Given the description of an element on the screen output the (x, y) to click on. 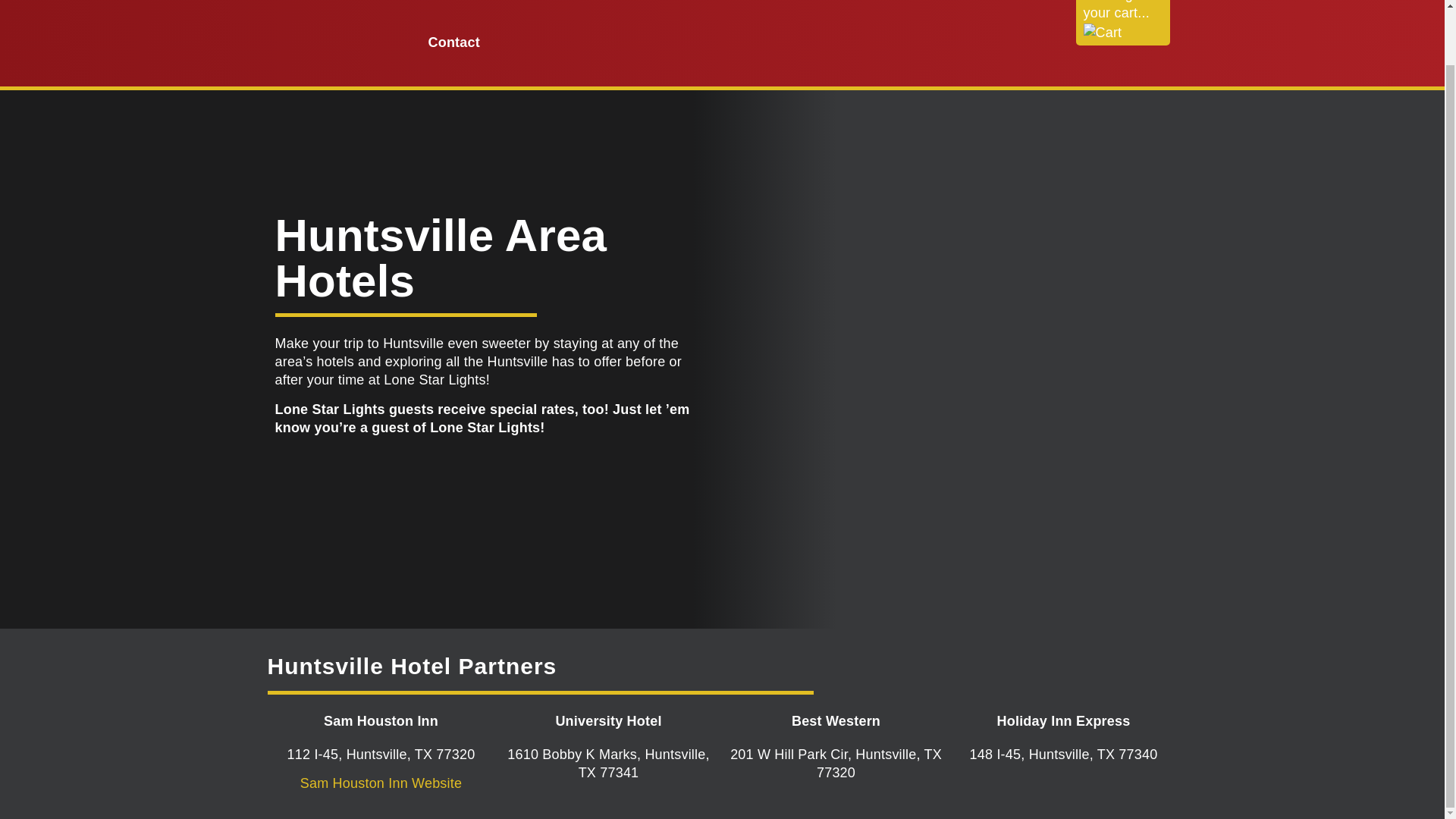
Sam Houston Inn Website (380, 783)
Tickets (590, 6)
Home (446, 6)
About (516, 6)
Contact (453, 42)
Overnight (678, 6)
Dinner Theatre (791, 6)
Entertainment (917, 6)
